Given the description of an element on the screen output the (x, y) to click on. 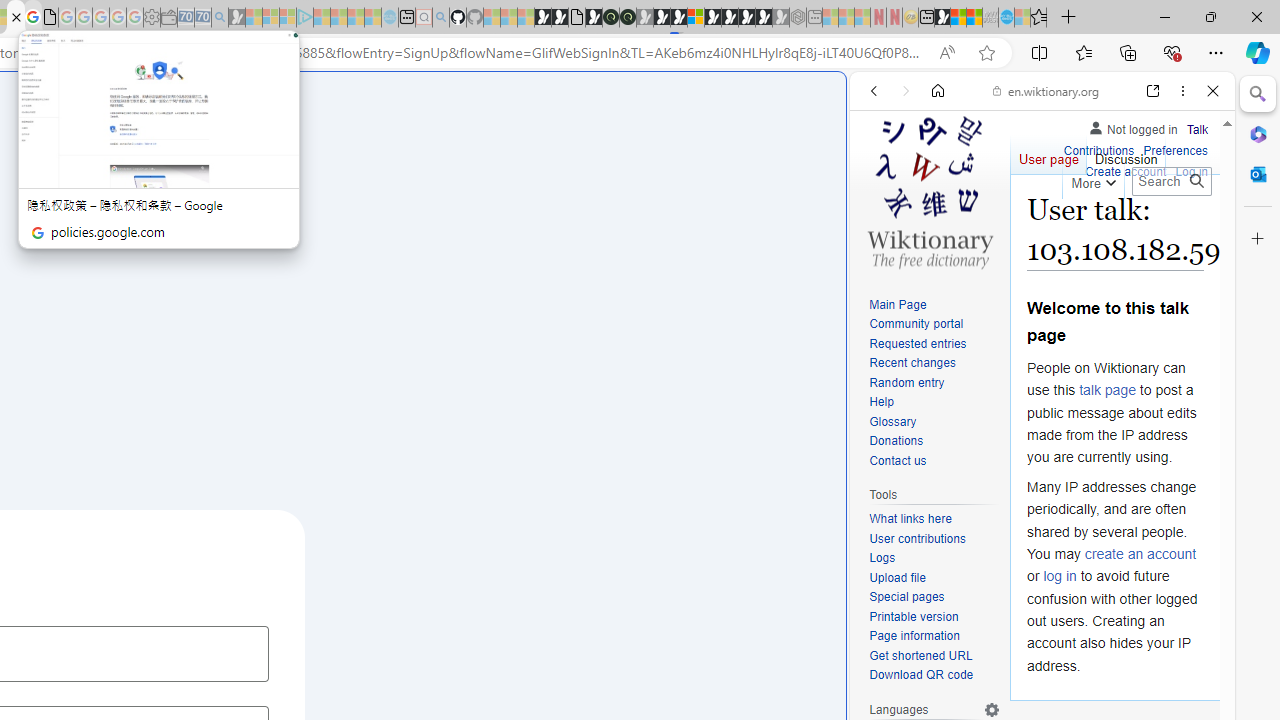
Download QR code (934, 676)
Page information (934, 637)
Random entry (934, 382)
Not logged in (1132, 126)
log in (1059, 576)
Contact us (897, 460)
Future Focus Report 2024 (627, 17)
